Given the description of an element on the screen output the (x, y) to click on. 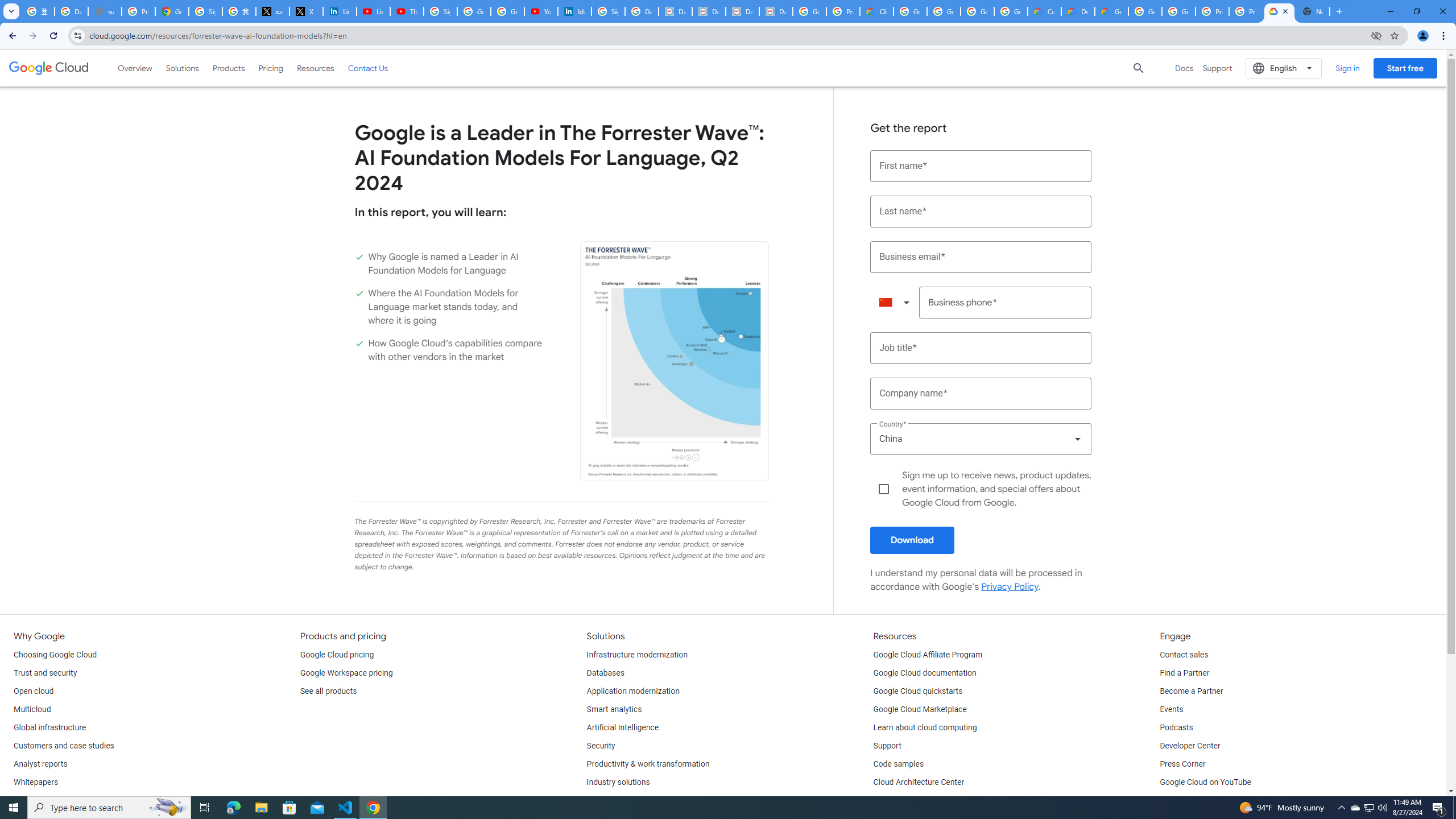
Identity verification via Persona | LinkedIn Help (574, 11)
Company name* (981, 393)
Developer Center (1189, 746)
Pricing (270, 67)
Smart analytics (614, 710)
Google Workspace pricing (346, 673)
Code samples (898, 764)
Google Cloud on YouTube (1204, 782)
Google Cloud Platform (1179, 11)
